Given the description of an element on the screen output the (x, y) to click on. 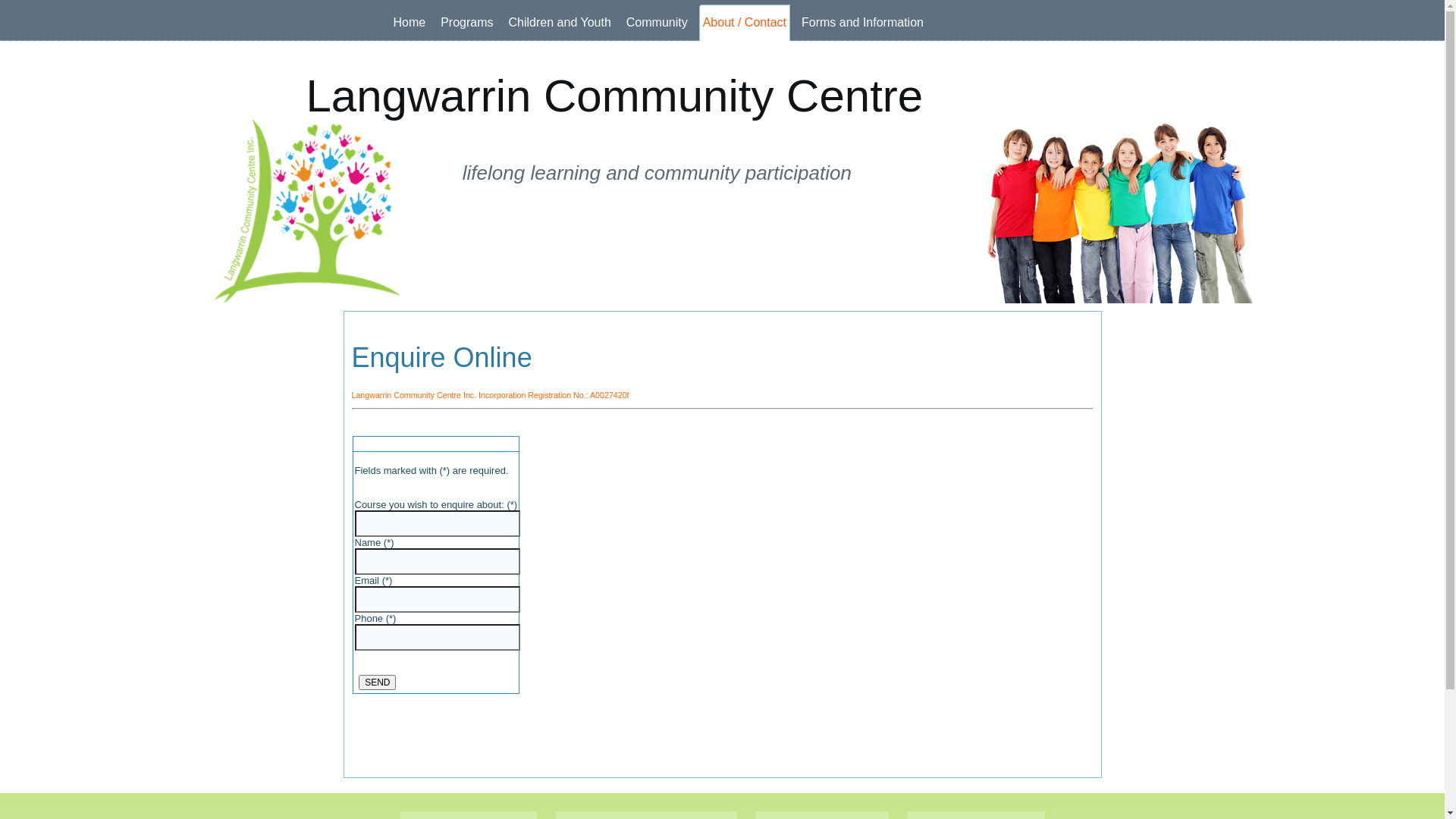
Community Element type: text (656, 22)
Children and Youth Element type: text (560, 22)
Programs Element type: text (466, 22)
Forms and Information Element type: text (862, 22)
About / Contact Element type: text (744, 22)
Send Element type: text (376, 682)
Home Element type: text (409, 22)
